Given the description of an element on the screen output the (x, y) to click on. 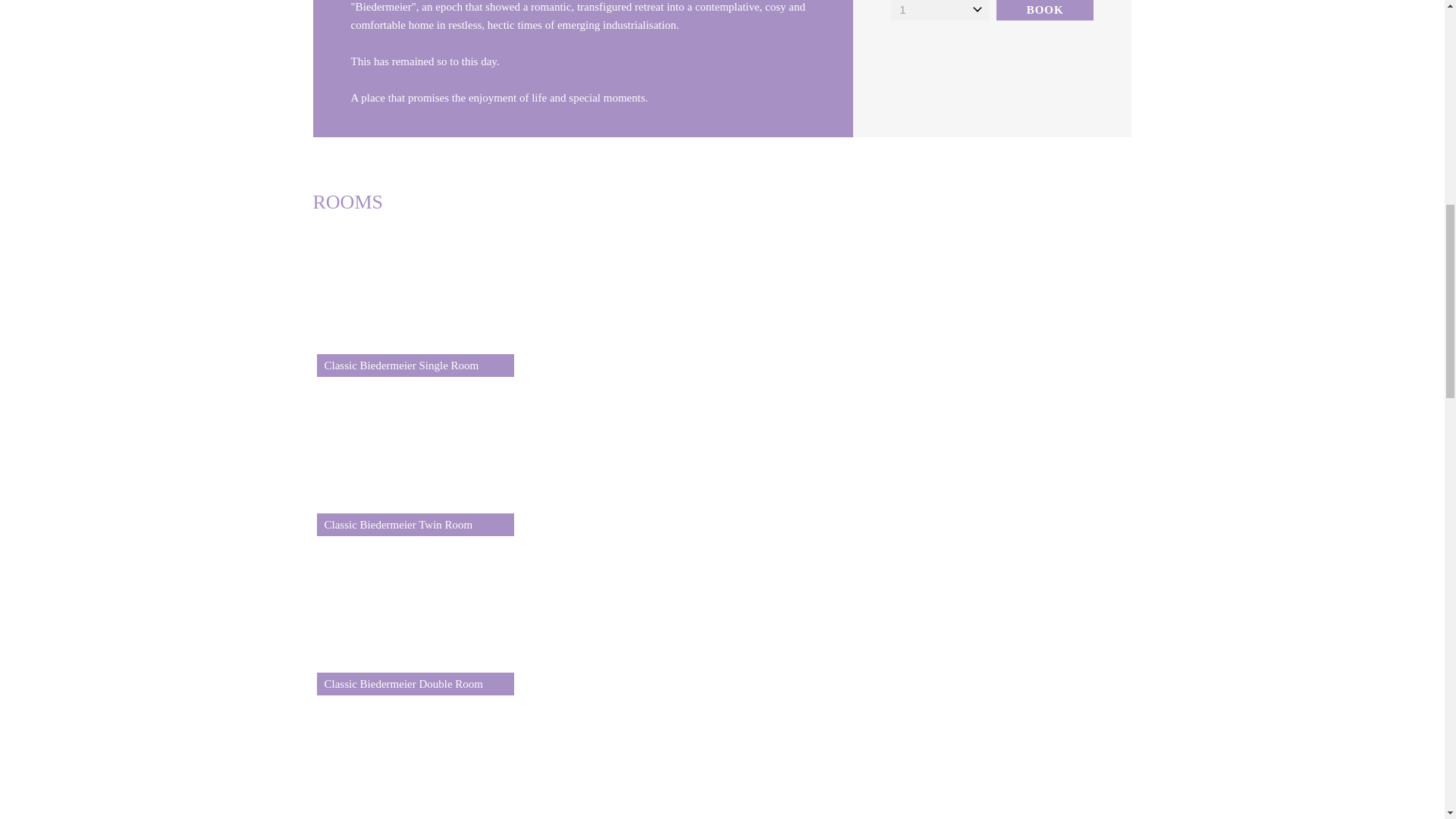
Classic Biedermeier Single Room (414, 296)
Classic Biedermeier Double Room (414, 615)
BOOK (1044, 10)
Classic Biedermeier Twin Room (414, 456)
Privilege Room with king-size bed (414, 757)
